Given the description of an element on the screen output the (x, y) to click on. 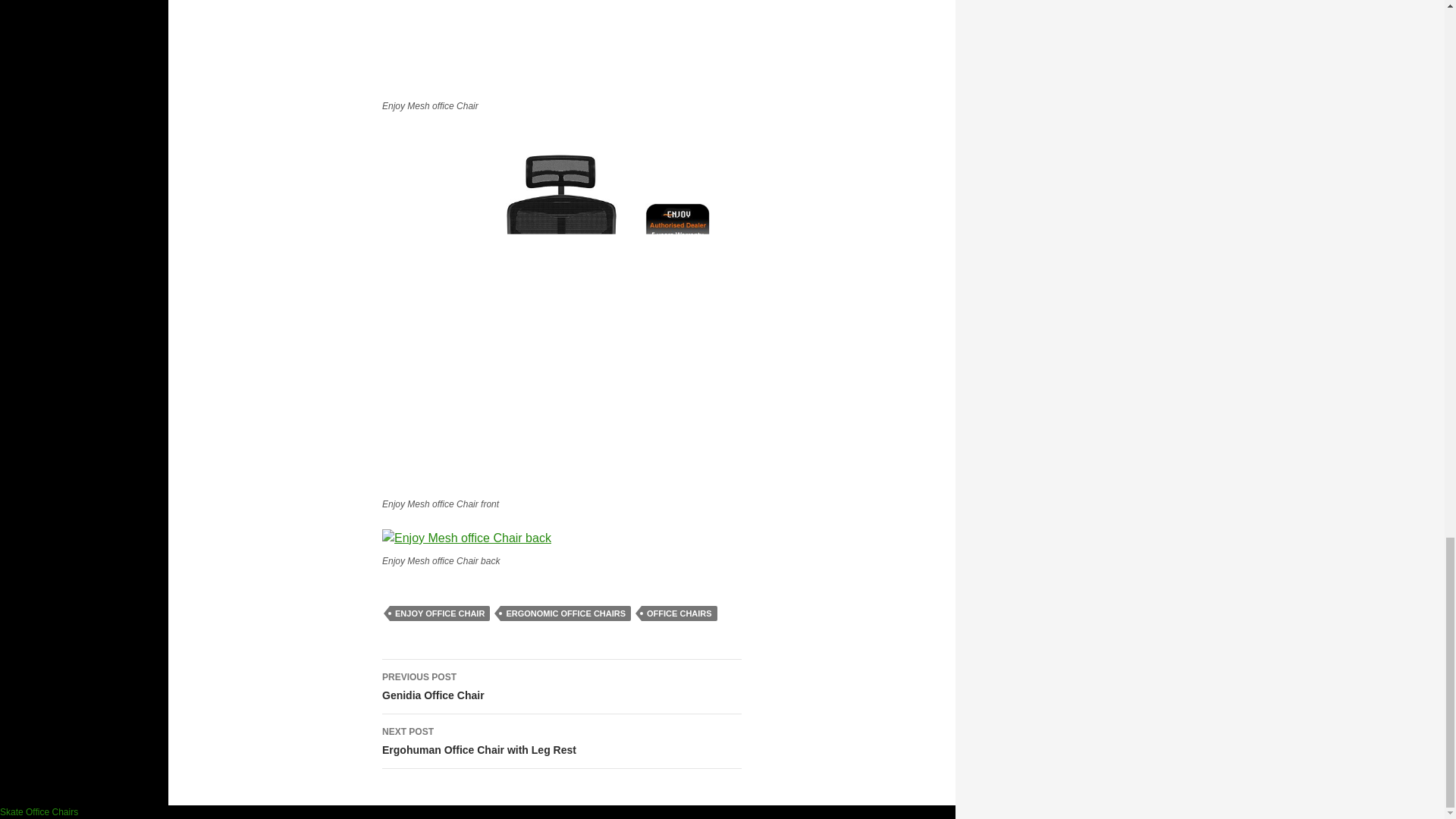
Skate Office Chairs (561, 741)
OFFICE CHAIRS (39, 811)
ERGONOMIC OFFICE CHAIRS (679, 613)
ENJOY OFFICE CHAIR (561, 687)
